Given the description of an element on the screen output the (x, y) to click on. 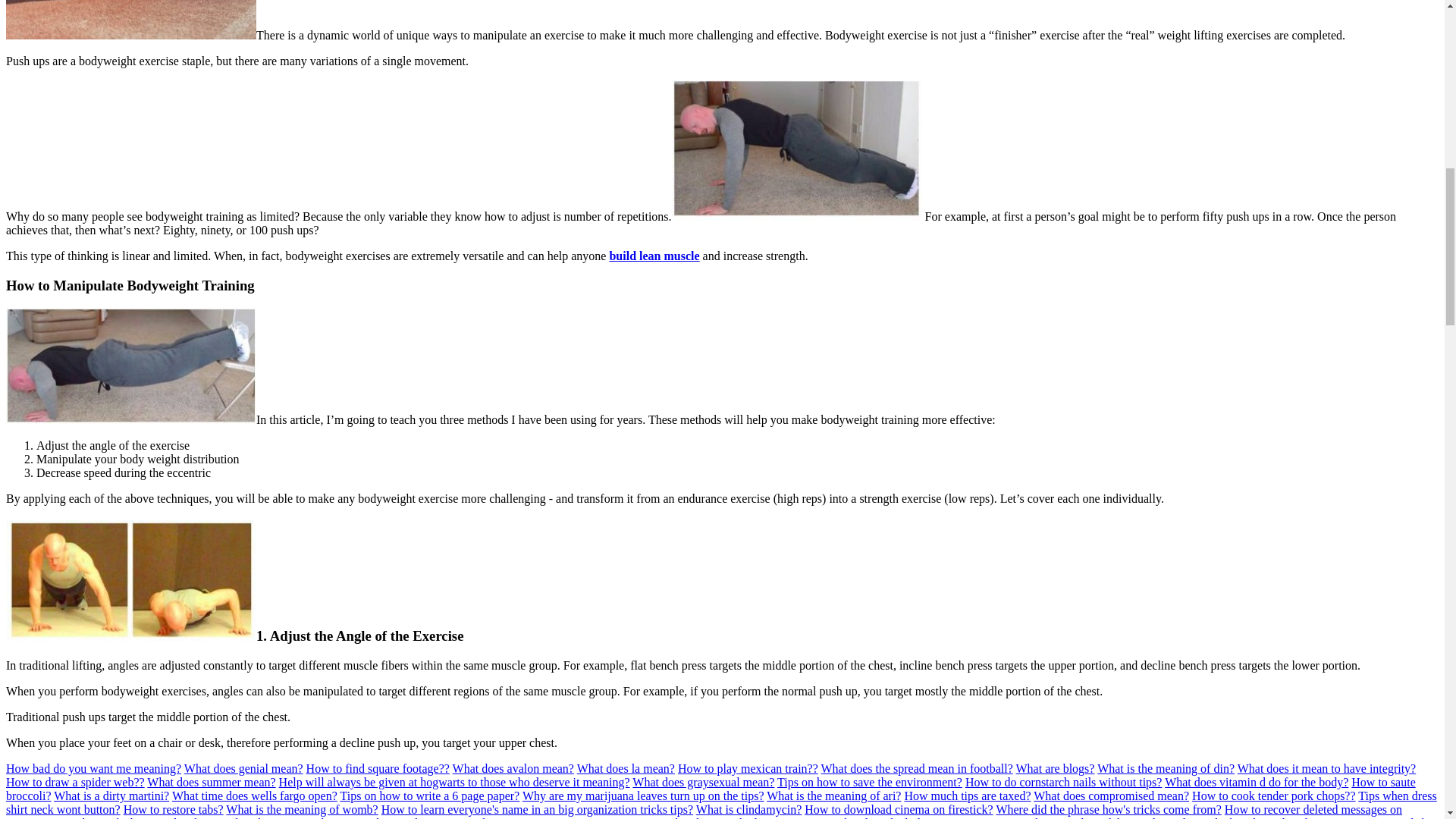
Why are my marijuana leaves turn up on the tips? (643, 795)
What is the meaning of din? (1165, 768)
How to find square footage?? (377, 768)
What does la mean? (625, 768)
What is a dirty martini? (110, 795)
What are blogs? (1054, 768)
Tips on how to save the environment? (869, 781)
How to saute broccoli? (710, 788)
What does it mean to have integrity? (1326, 768)
What does genial mean? (243, 768)
